Given the description of an element on the screen output the (x, y) to click on. 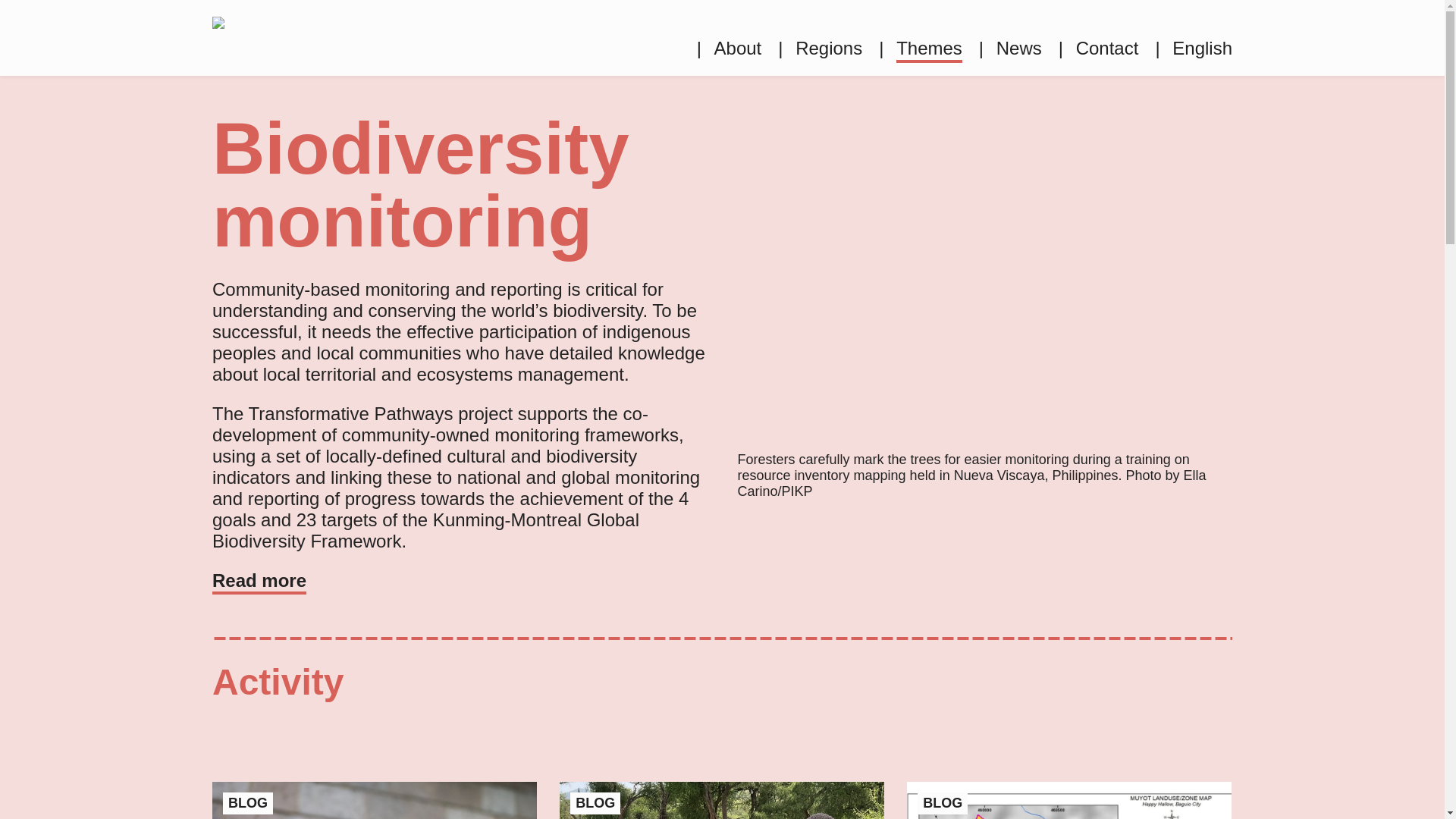
Read more (258, 580)
English (1192, 47)
Themes (920, 47)
Regions (819, 47)
Contact (1098, 47)
English (1192, 47)
About (729, 47)
News (1010, 47)
